Given the description of an element on the screen output the (x, y) to click on. 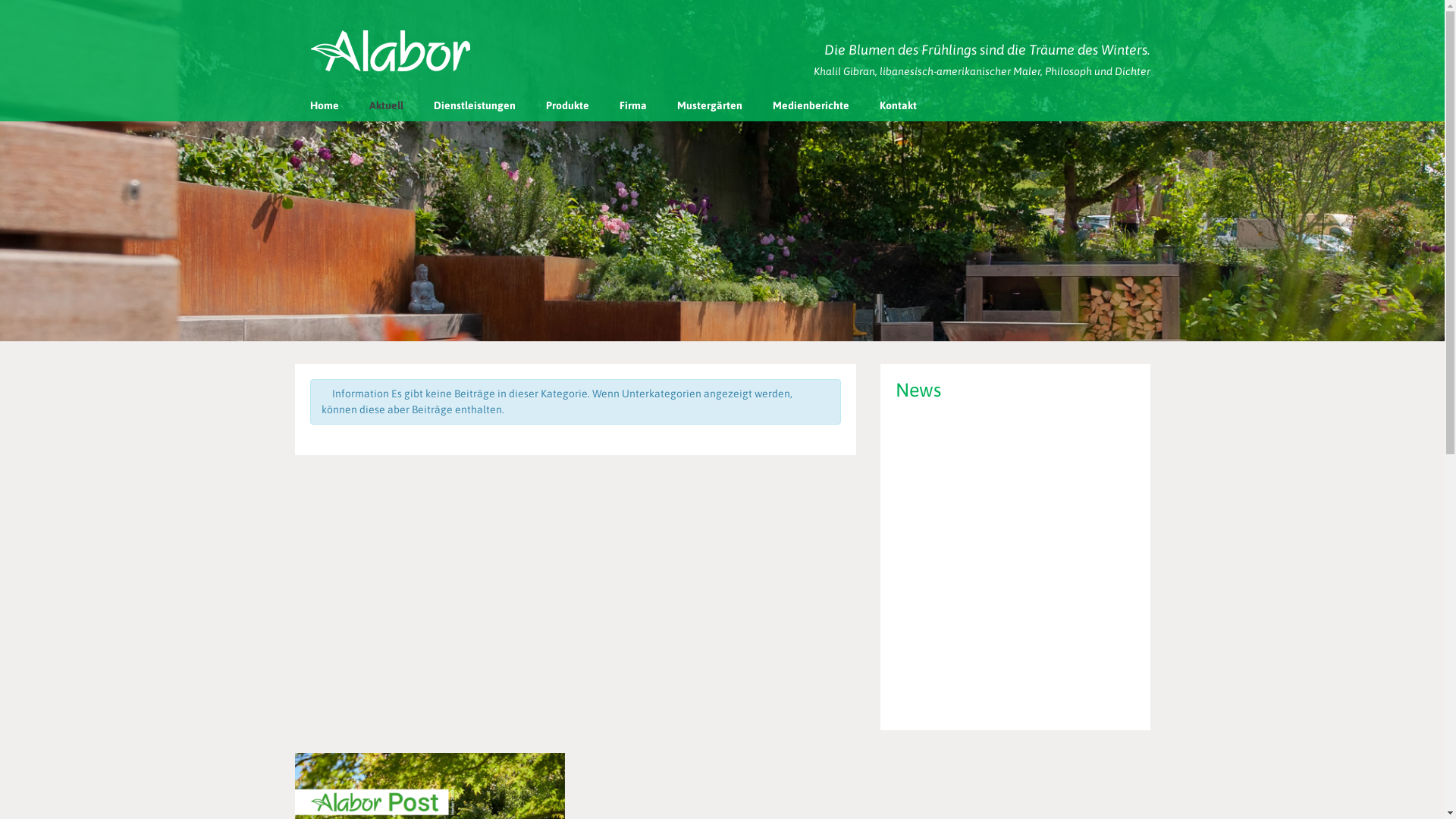
Medienberichte Element type: text (809, 104)
Alabor Gartenbau AG Element type: hover (390, 50)
Produkte Element type: text (567, 104)
Aktuell Element type: text (385, 104)
Kontakt Element type: text (897, 104)
Home Element type: text (323, 104)
Firma Element type: text (632, 104)
Dienstleistungen Element type: text (474, 104)
